Given the description of an element on the screen output the (x, y) to click on. 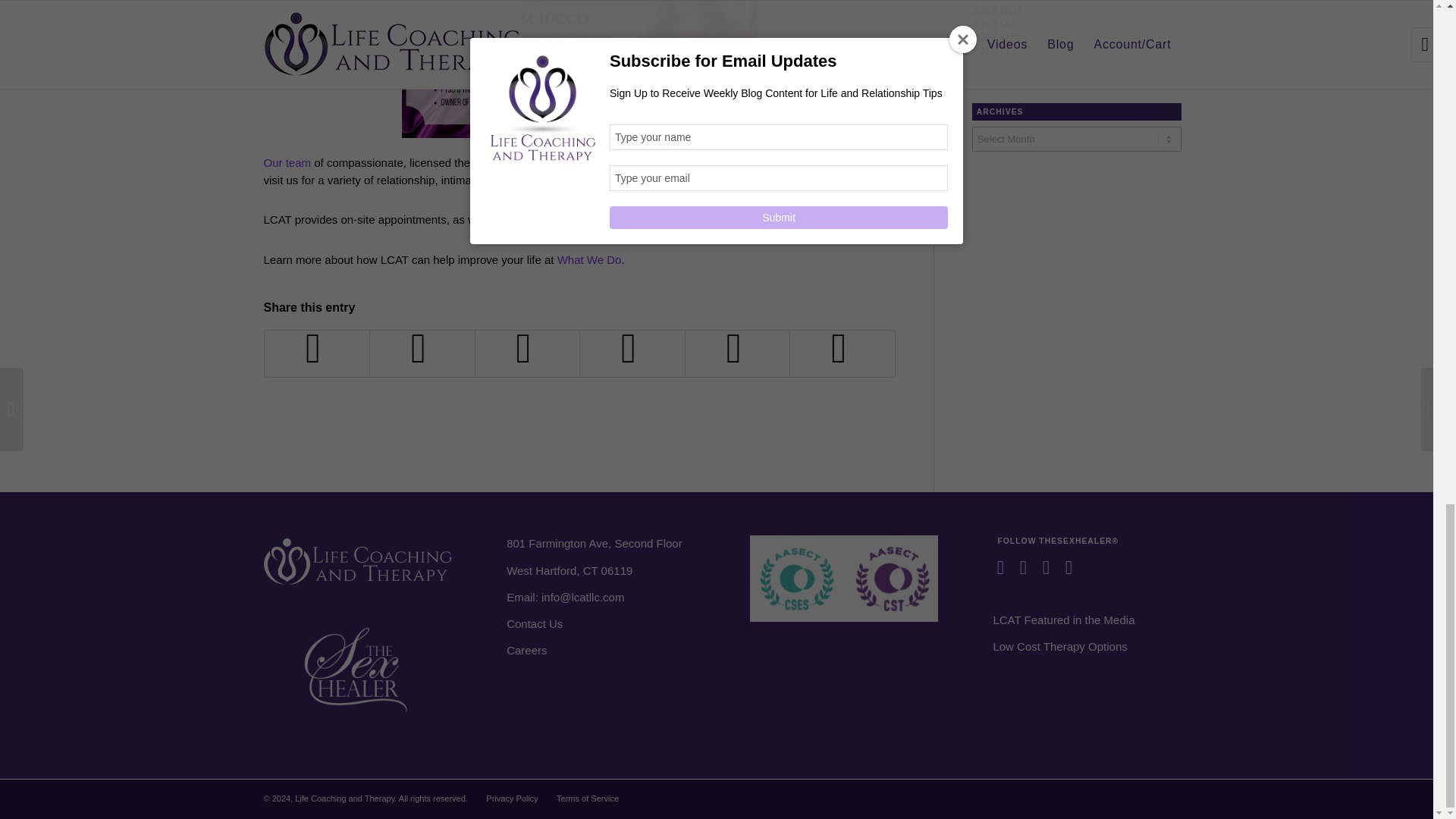
Youtube (1003, 567)
What We Do (587, 259)
Our team (287, 162)
LinkedIn (1072, 567)
Twitter (1049, 567)
Facebook (1026, 567)
